Given the description of an element on the screen output the (x, y) to click on. 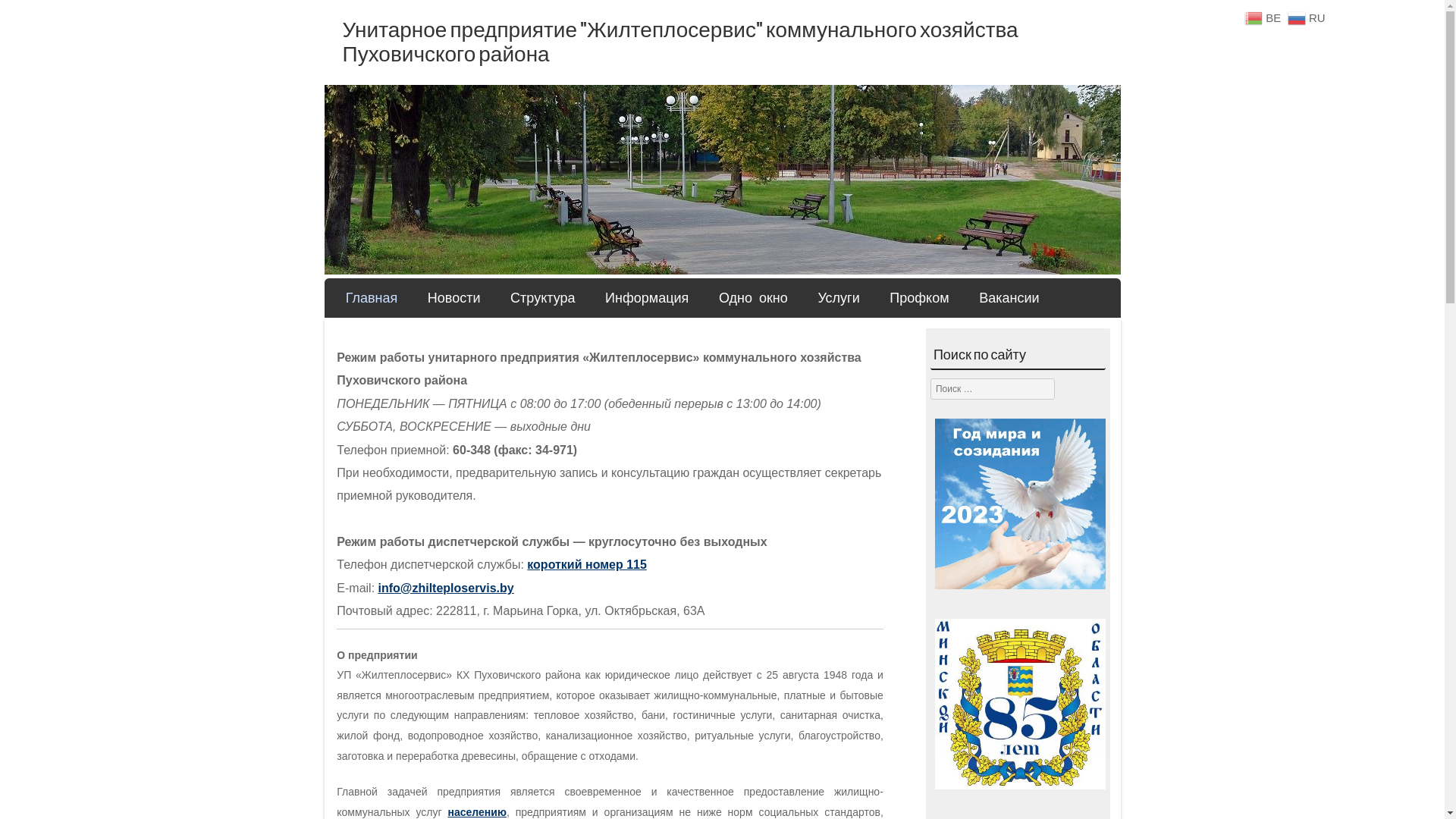
BE Element type: text (1264, 17)
RU Element type: text (1308, 17)
Skip to content Element type: text (381, 294)
info@zhilteploservis.by Element type: text (446, 587)
Search Element type: text (33, 17)
